Given the description of an element on the screen output the (x, y) to click on. 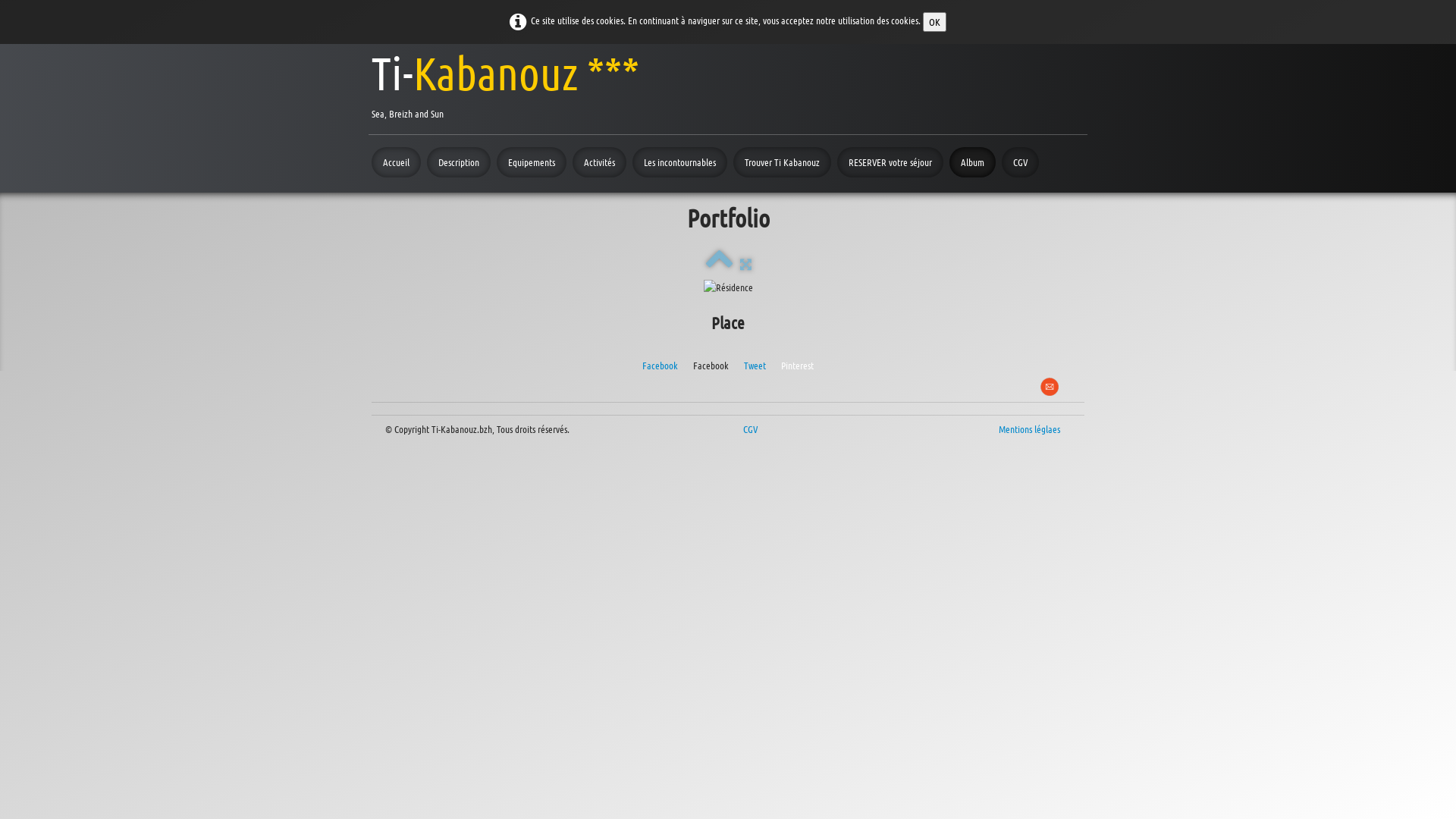
Accueil Element type: text (395, 162)
Index Element type: hover (719, 263)
Les incontournables Element type: text (679, 162)
Tweet Element type: text (754, 364)
OK Element type: text (934, 21)
Trouver Ti Kabanouz Element type: text (782, 162)
Ti-Kabanouz ***
Sea, Breizh and Sun Element type: text (505, 83)
CGV Element type: text (1019, 162)
Album Element type: text (972, 162)
CGV  Element type: text (752, 428)
Facebook Element type: text (659, 364)
place Element type: hover (728, 286)
Description Element type: text (458, 162)
Equipements Element type: text (531, 162)
Pinterest Element type: text (797, 364)
